Given the description of an element on the screen output the (x, y) to click on. 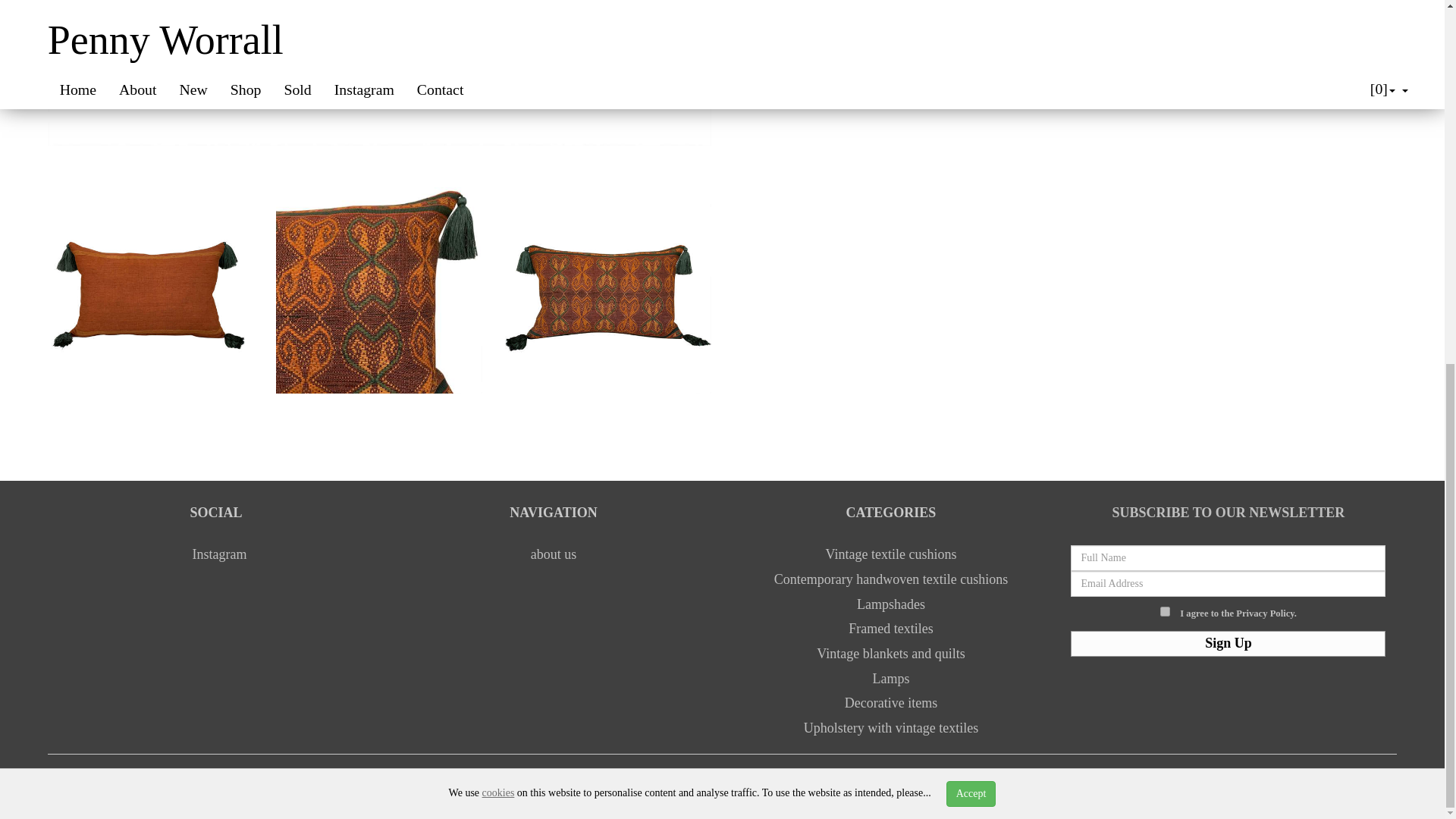
Antiques (389, 782)
Upholstery with vintage textiles (890, 727)
Framed textiles (890, 628)
Sign Up (1228, 643)
on (1165, 611)
about us (553, 554)
Vintage textile cushions (890, 554)
Terms (685, 782)
Lamps (890, 678)
Contemporary handwoven textile cushions (890, 579)
  Instagram (216, 554)
Privacy (638, 782)
ph9 web design (312, 782)
Vintage blankets and quilts (889, 653)
Lampshades (890, 604)
